Given the description of an element on the screen output the (x, y) to click on. 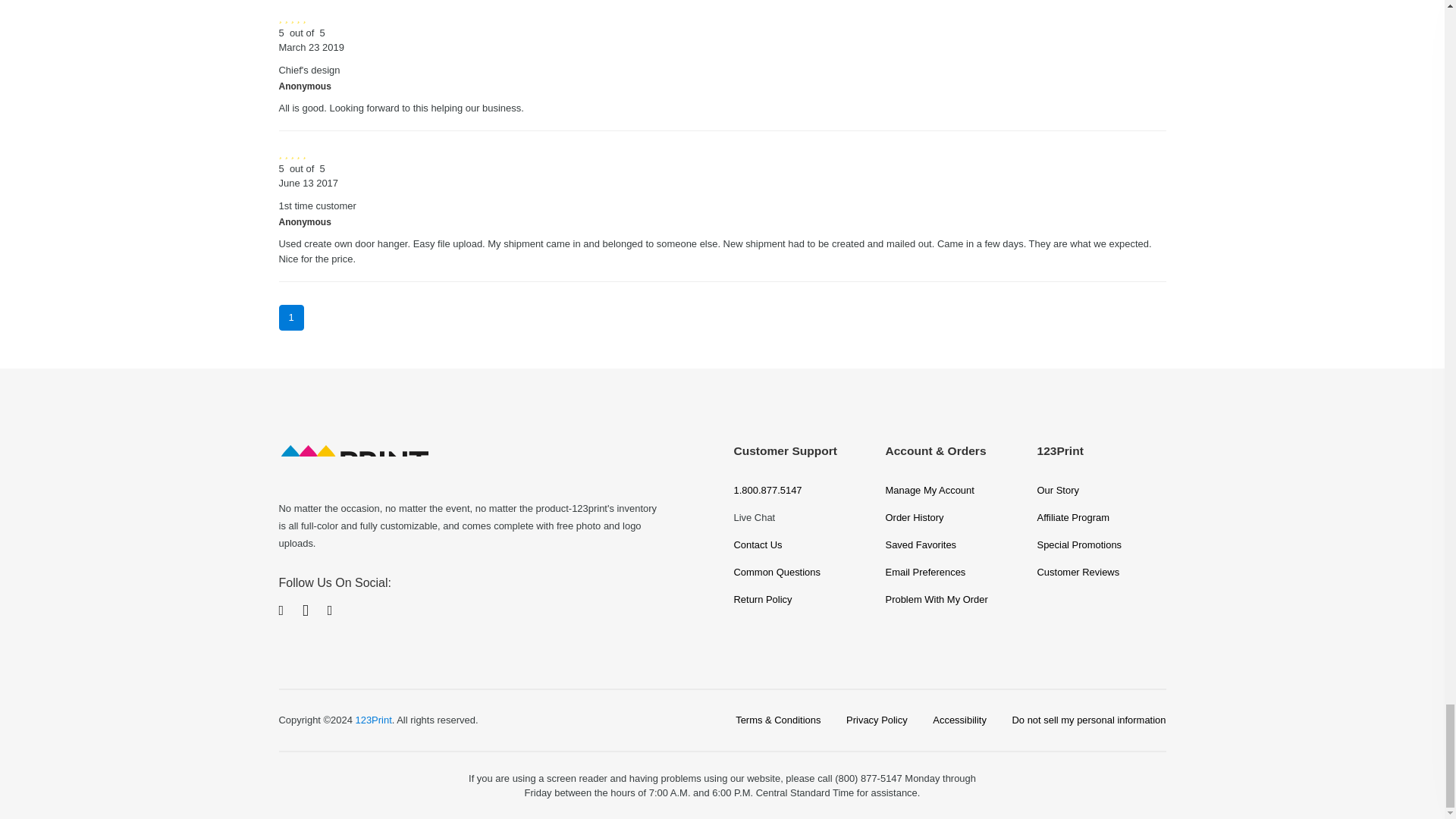
Terms and Conditions (778, 719)
About 123Print (1101, 489)
Customer Reviews (1101, 571)
Pinterest (305, 610)
Contact Us (798, 544)
Promotions (1101, 544)
Accessibility (960, 719)
Privacy Policy (876, 719)
Blog (330, 611)
facebook (281, 611)
Return Policy (798, 599)
